Given the description of an element on the screen output the (x, y) to click on. 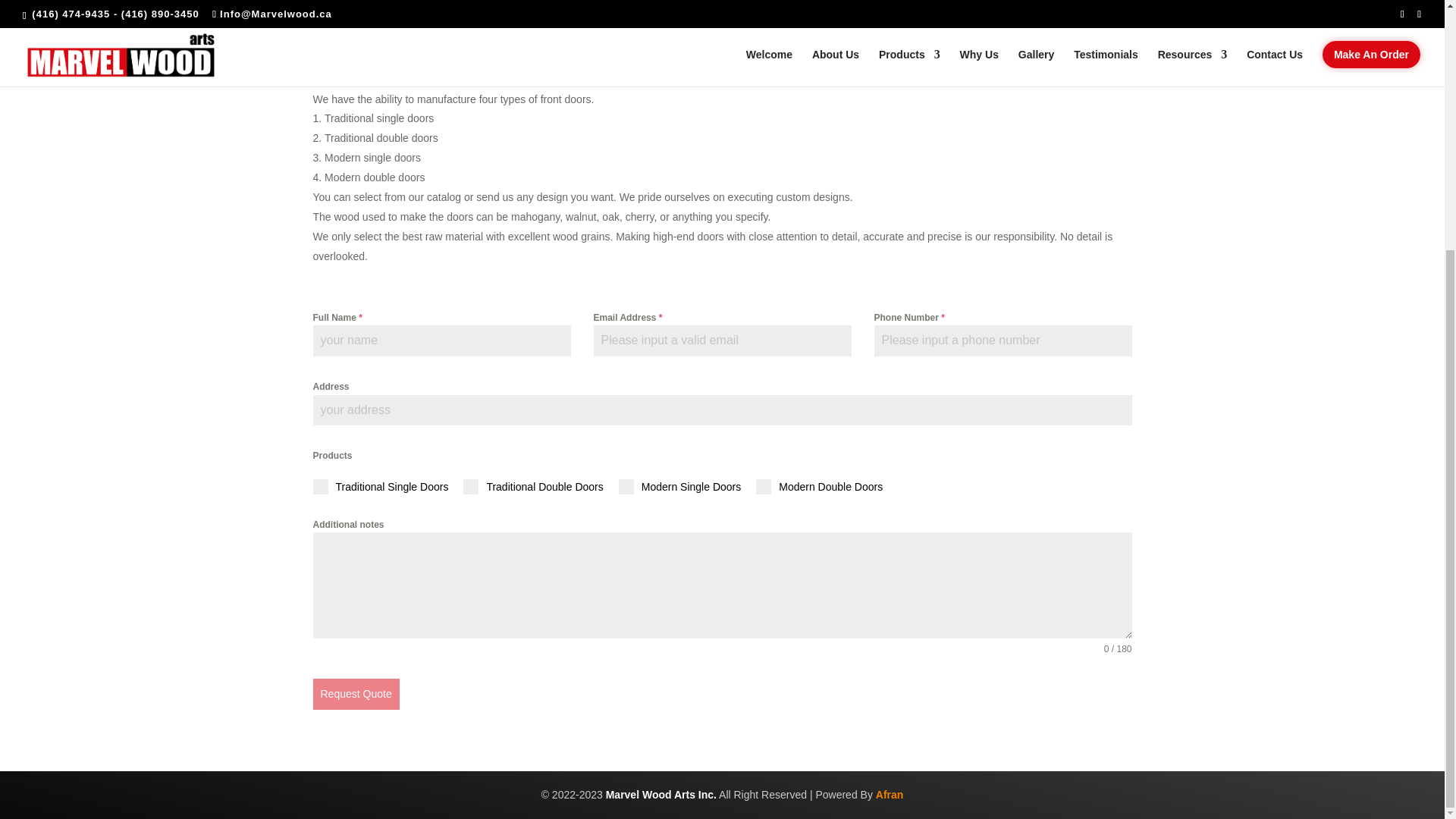
Modern Double Doors (818, 486)
Traditional Single Doors (380, 486)
Traditional Double Doors (532, 486)
Modern Single Doors (679, 486)
